Given the description of an element on the screen output the (x, y) to click on. 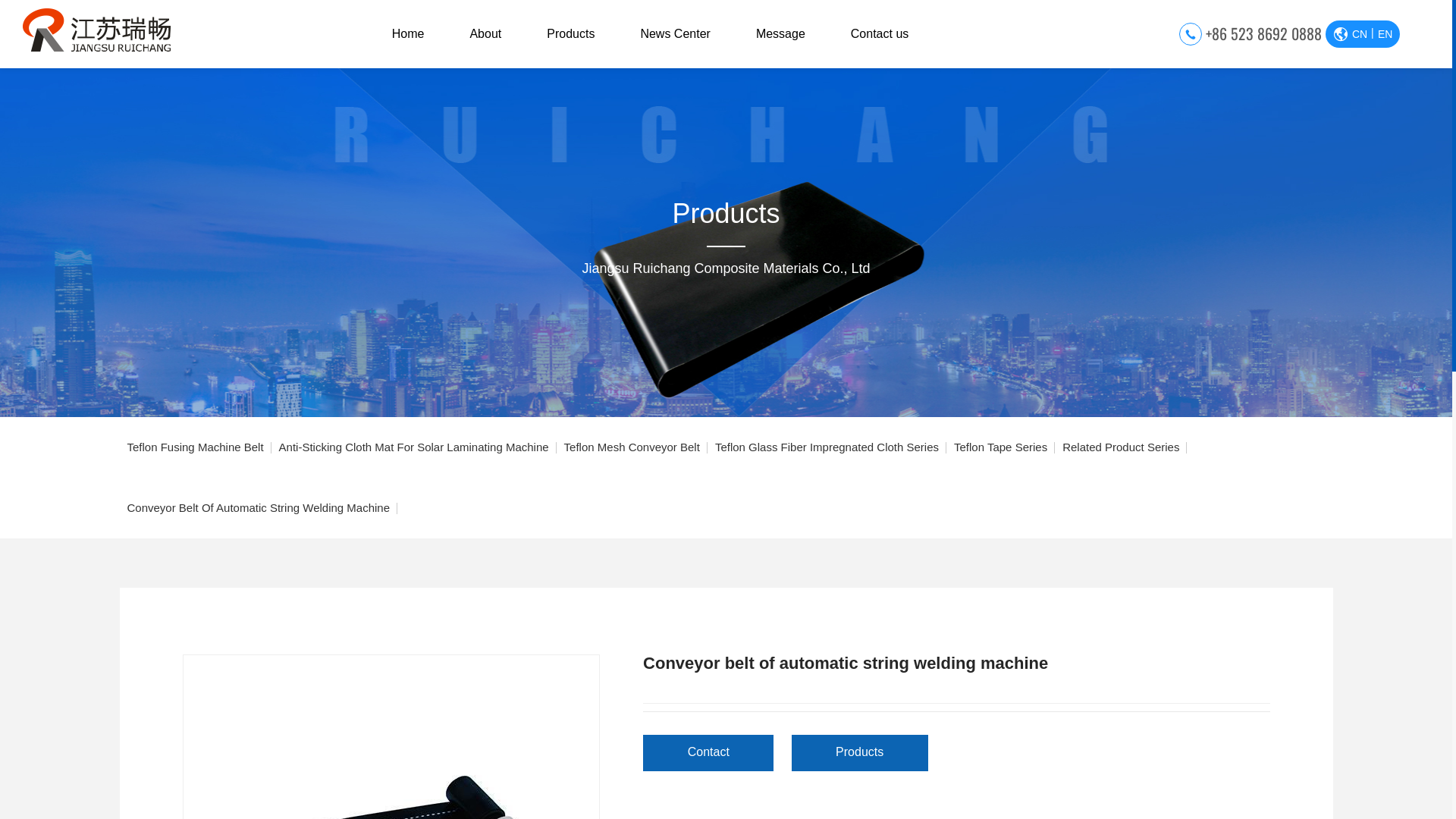
Message Element type: text (780, 34)
Teflon Fusing Machine Belt Element type: text (195, 447)
Teflon Tape Series Element type: text (1000, 447)
CN Element type: text (1359, 33)
Products Element type: text (859, 755)
About Element type: text (485, 34)
Home Element type: text (408, 34)
Contact Element type: text (708, 752)
Anti-Sticking Cloth Mat For Solar Laminating Machine Element type: text (413, 447)
Products Element type: text (570, 34)
News Center Element type: text (674, 34)
Contact Element type: text (709, 755)
Teflon Mesh Conveyor Belt Element type: text (631, 447)
Contact us Element type: text (879, 34)
Teflon Glass Fiber Impregnated Cloth Series Element type: text (826, 447)
Conveyor Belt Of Automatic String Welding Machine Element type: text (258, 507)
Related Product Series Element type: text (1120, 447)
EN Element type: text (1385, 33)
